Given the description of an element on the screen output the (x, y) to click on. 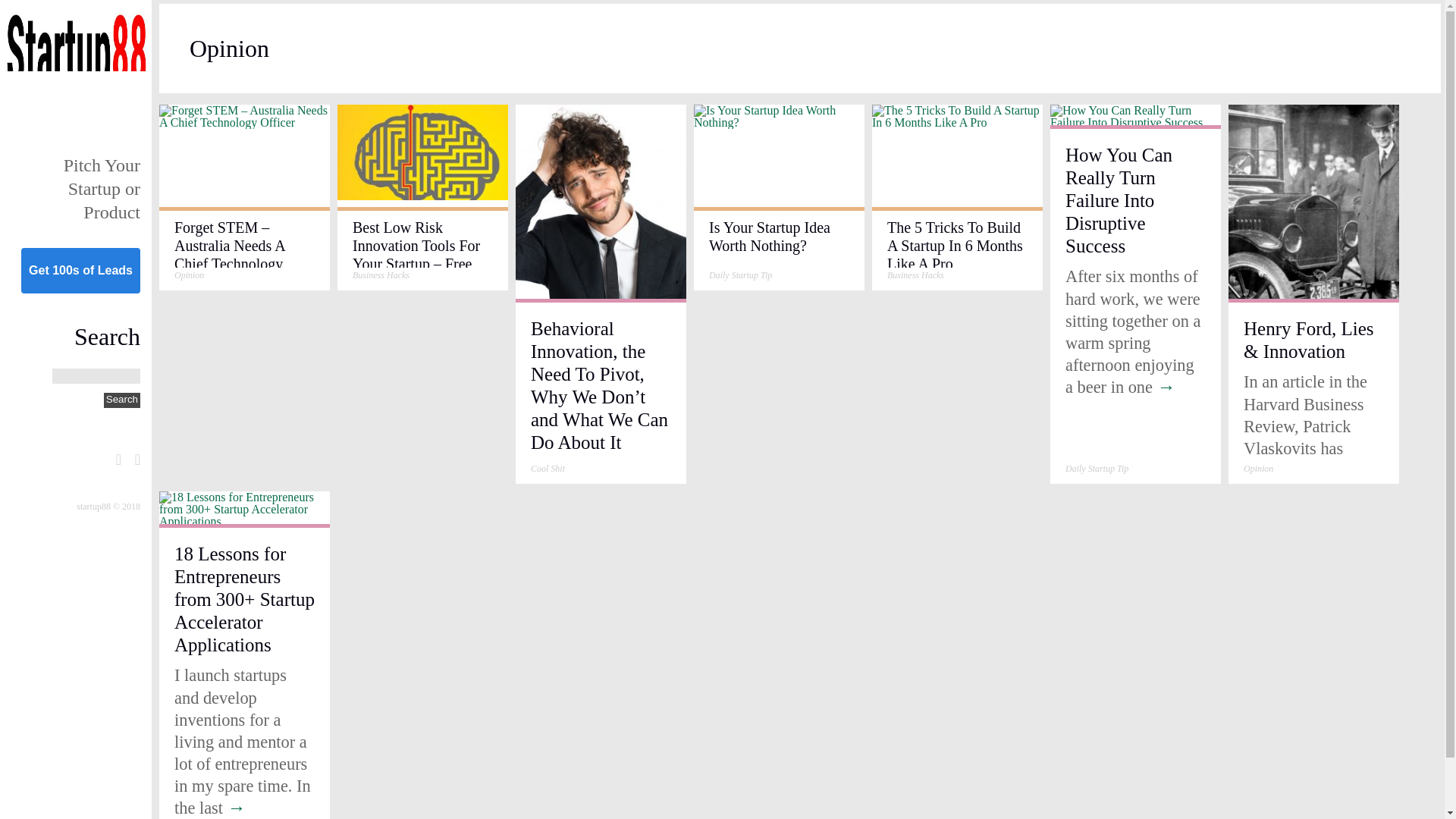
Opinion (1257, 468)
Cool Shit (547, 468)
Daily Startup Tip (1096, 468)
Pitch Your Startup or Product (101, 188)
Get 100s of Leads (80, 270)
Opinion (188, 275)
Daily Startup Tip (740, 275)
Cool Shit (547, 468)
Search (121, 400)
Business Hacks (380, 275)
